Given the description of an element on the screen output the (x, y) to click on. 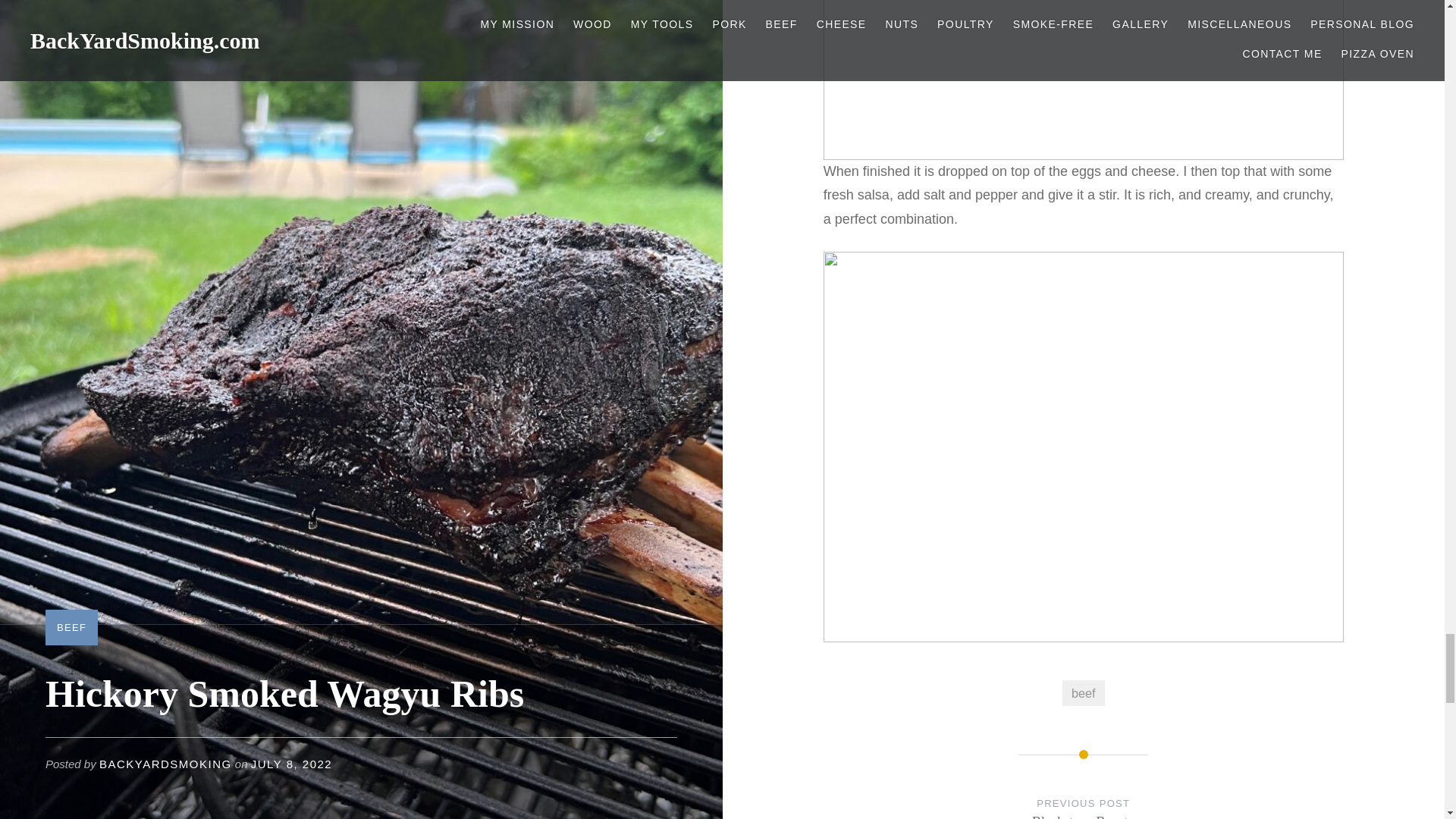
beef (1083, 807)
